Given the description of an element on the screen output the (x, y) to click on. 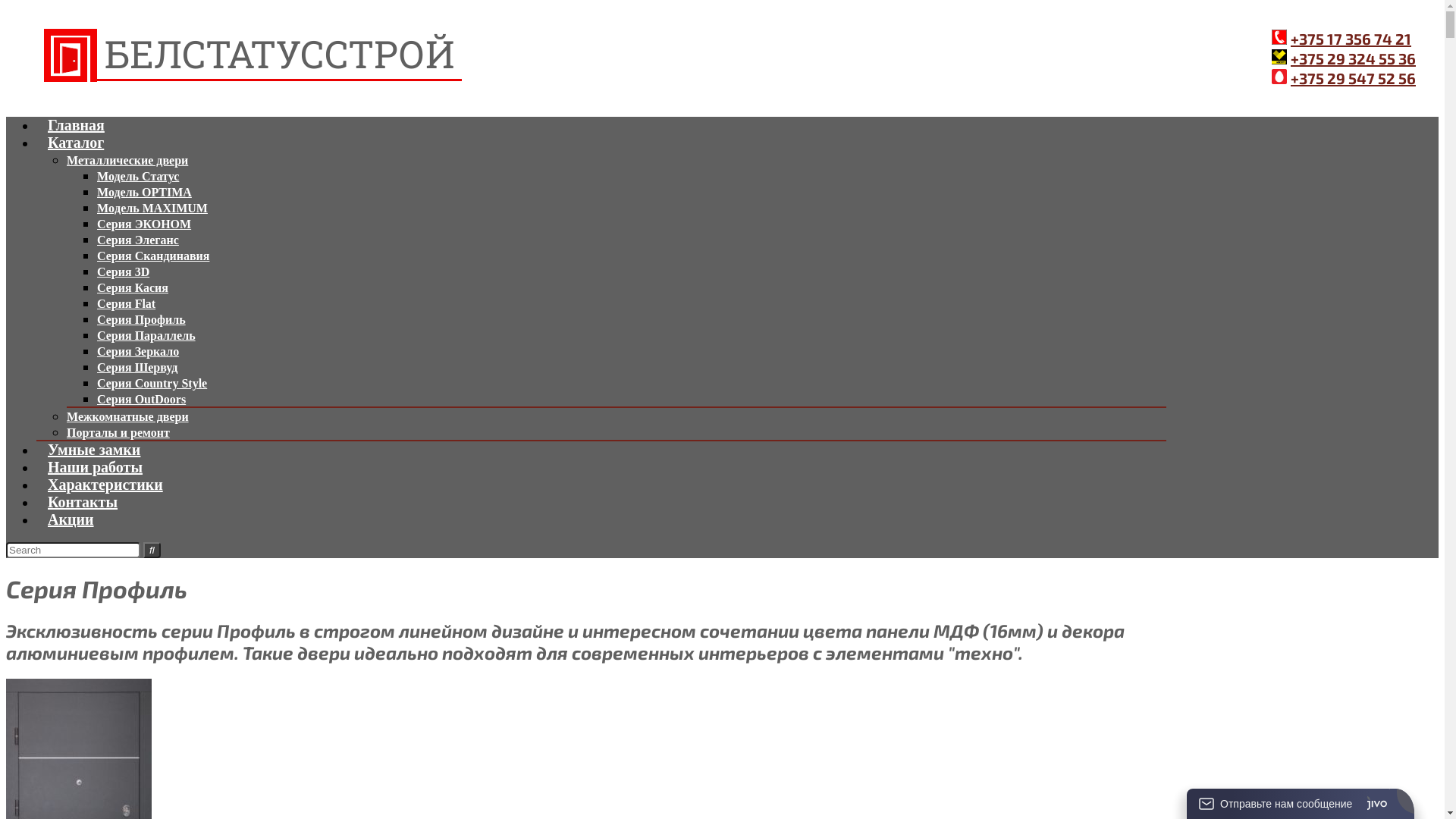
+375 29 324 55 36 Element type: text (1352, 58)
+375 29 547 52 56 Element type: text (1352, 78)
+375 17 356 74 21 Element type: text (1350, 38)
